Given the description of an element on the screen output the (x, y) to click on. 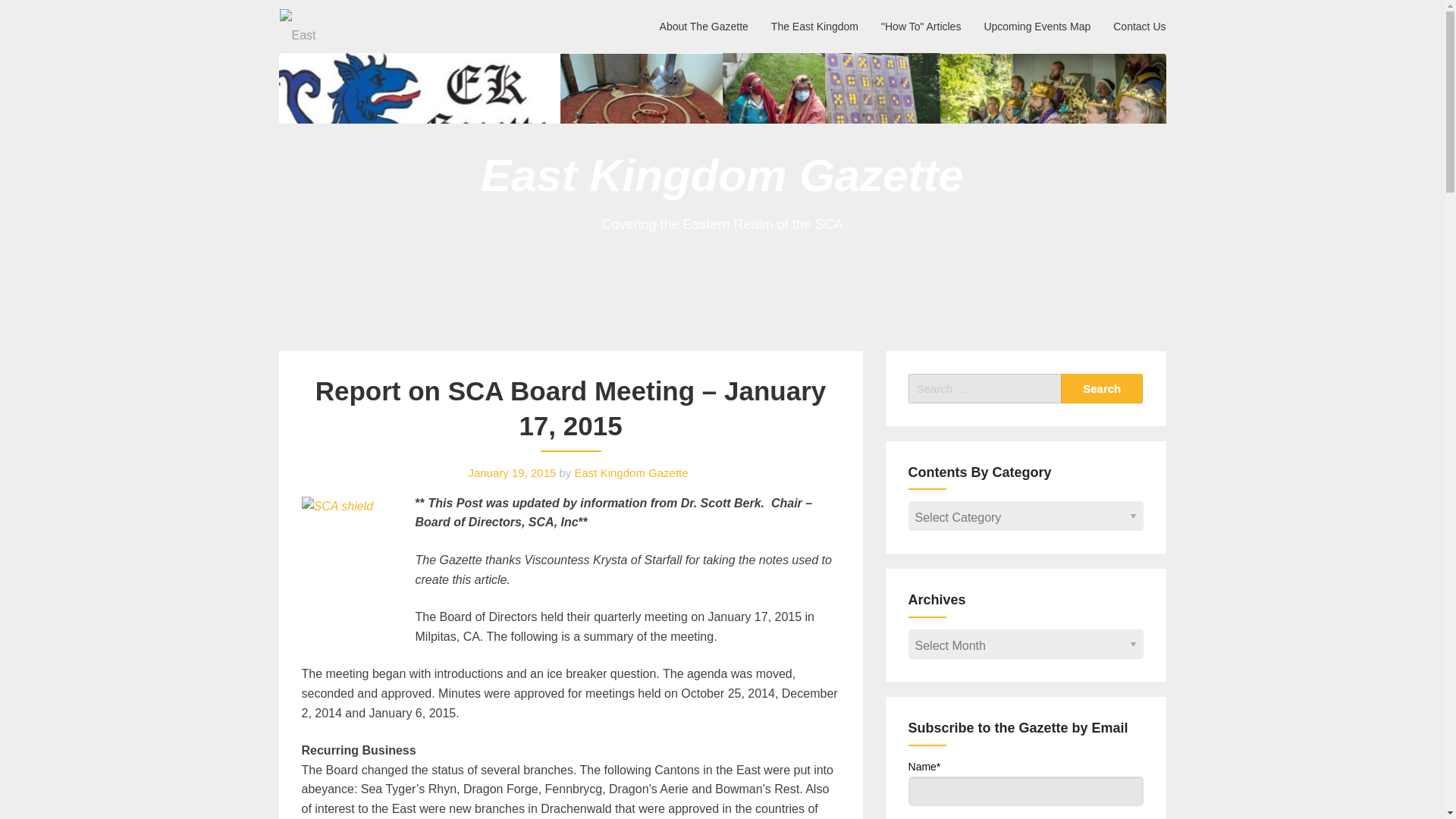
Search (1101, 388)
Search (1101, 388)
Upcoming Events Map (1037, 26)
January 19, 2015 (511, 472)
"How To" Articles (920, 26)
About The Gazette (703, 26)
Contact Us (1139, 26)
Search (1101, 388)
The East Kingdom (814, 26)
